Given the description of an element on the screen output the (x, y) to click on. 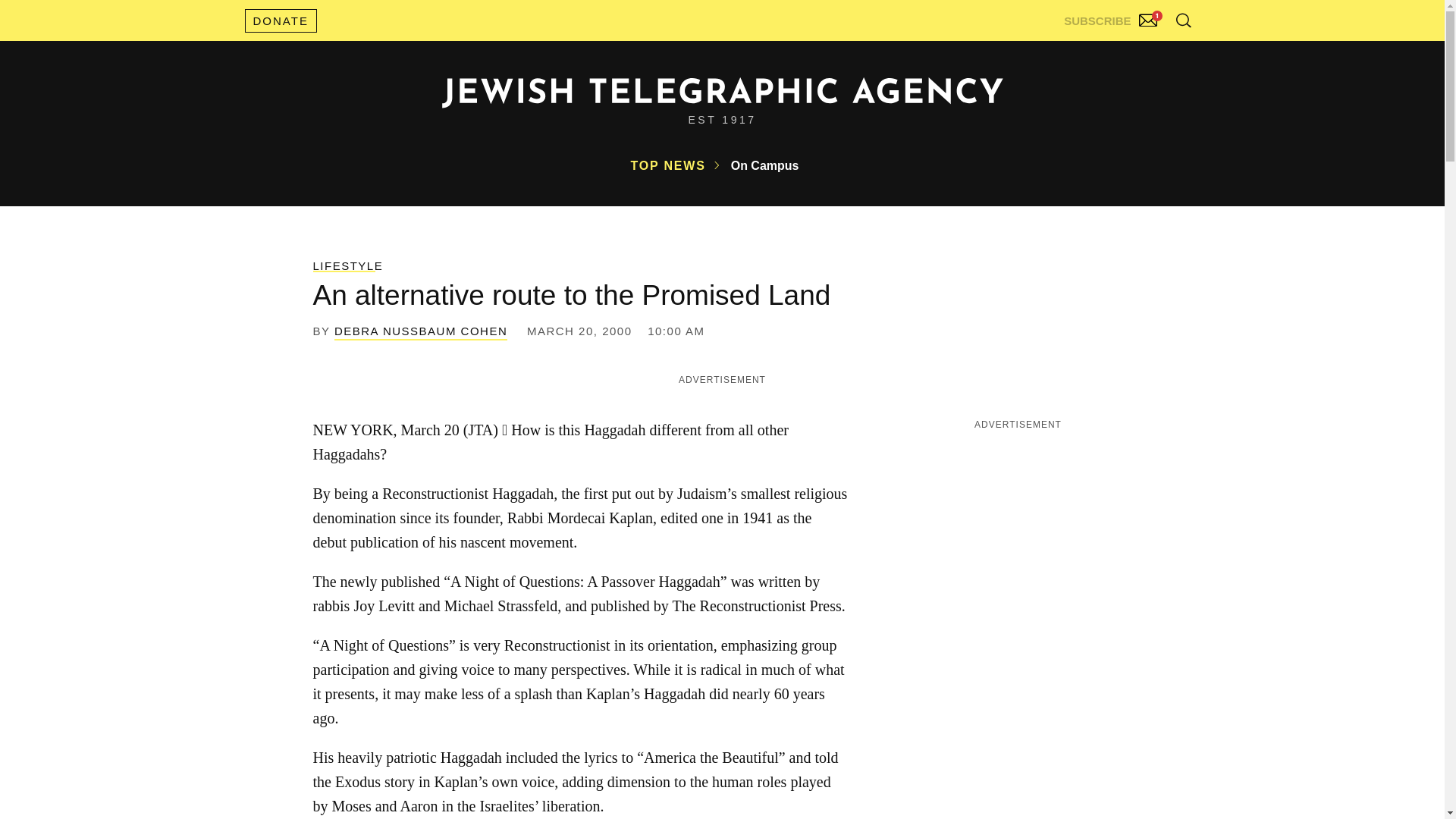
DONATE (279, 20)
SUBSCRIBE (1112, 17)
Search (1144, 53)
SEARCH TOGGLESEARCH TOGGLE (1182, 20)
